Given the description of an element on the screen output the (x, y) to click on. 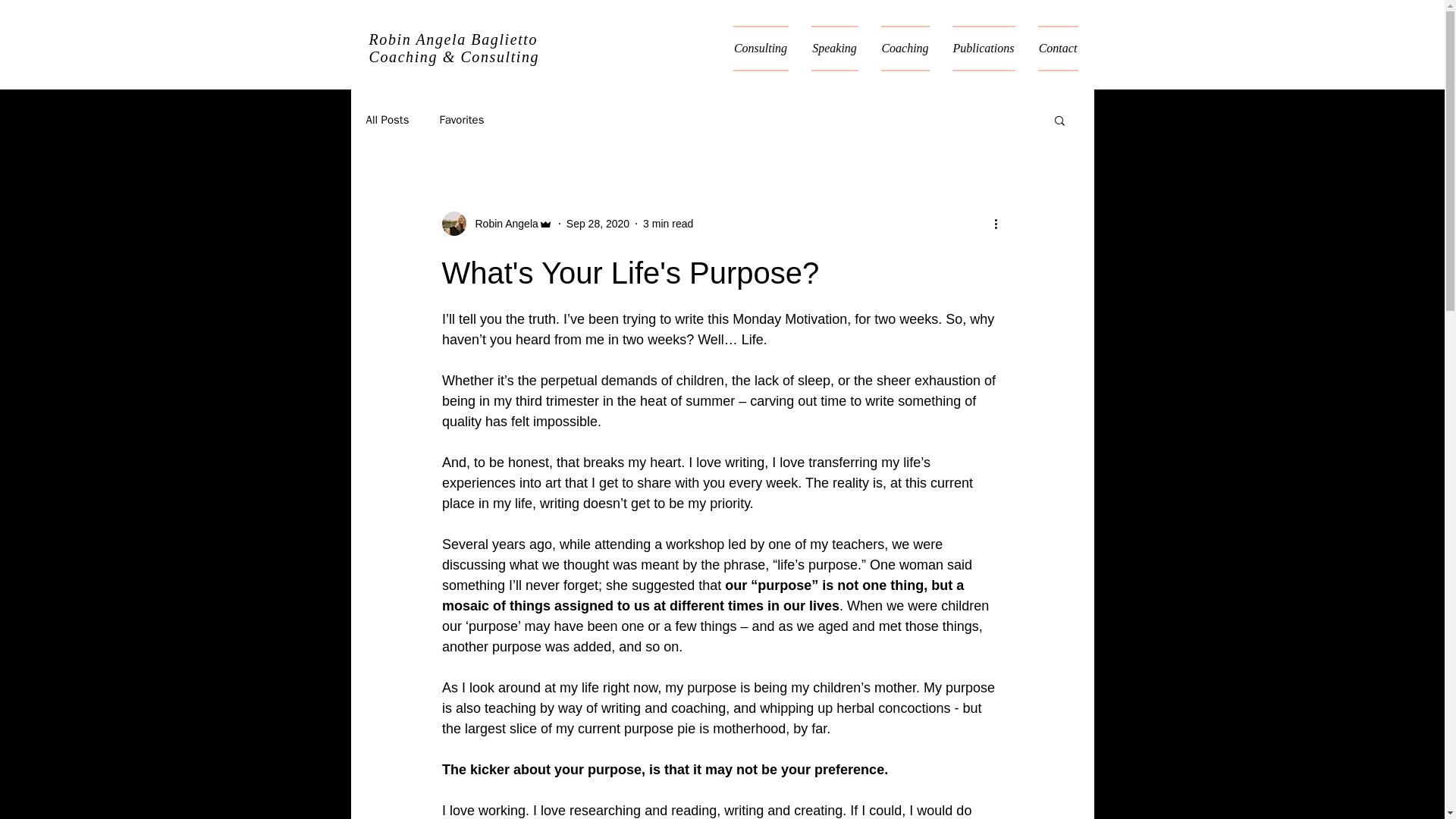
All Posts (387, 119)
Coaching (904, 48)
Robin Angela (496, 223)
Speaking (834, 48)
Favorites (461, 119)
3 min read (668, 223)
Robin Angela (501, 222)
Consulting (760, 48)
Publications (983, 48)
Sep 28, 2020 (597, 223)
